Given the description of an element on the screen output the (x, y) to click on. 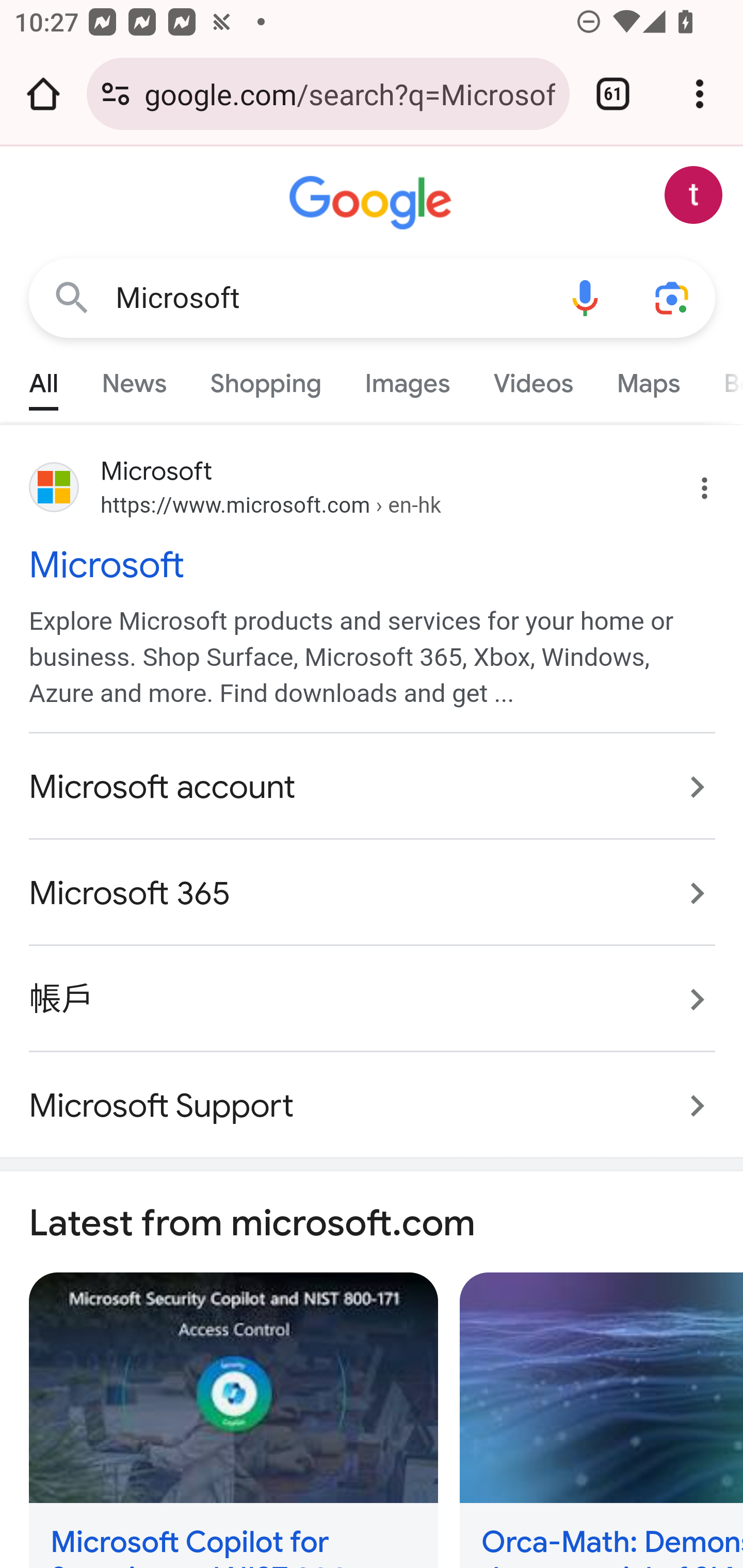
Open the home page (43, 93)
Connection is secure (115, 93)
Switch or close tabs (612, 93)
Customize and control Google Chrome (699, 93)
Google (372, 203)
Google Search (71, 296)
Search using your camera or photos (672, 296)
Microsoft (328, 297)
News (134, 378)
Shopping (265, 378)
Images (408, 378)
Videos (533, 378)
Maps (647, 378)
Microsoft (372, 564)
Microsoft account (372, 787)
Microsoft 365 (372, 894)
帳戶 (372, 999)
Microsoft Support (372, 1094)
